Given the description of an element on the screen output the (x, y) to click on. 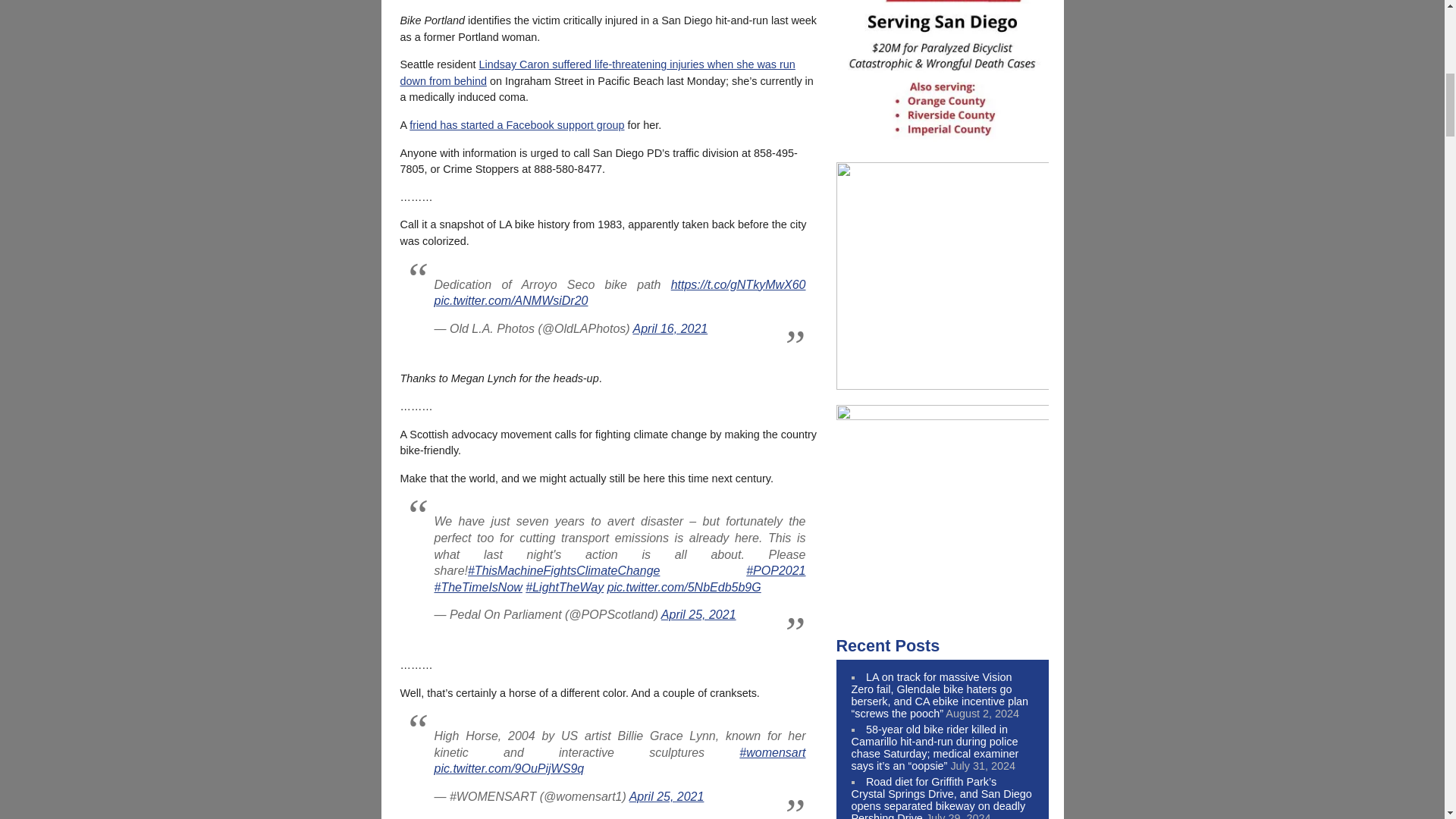
April 25, 2021 (698, 614)
April 25, 2021 (666, 796)
friend has started a Facebook support group (516, 124)
April 16, 2021 (669, 328)
